Given the description of an element on the screen output the (x, y) to click on. 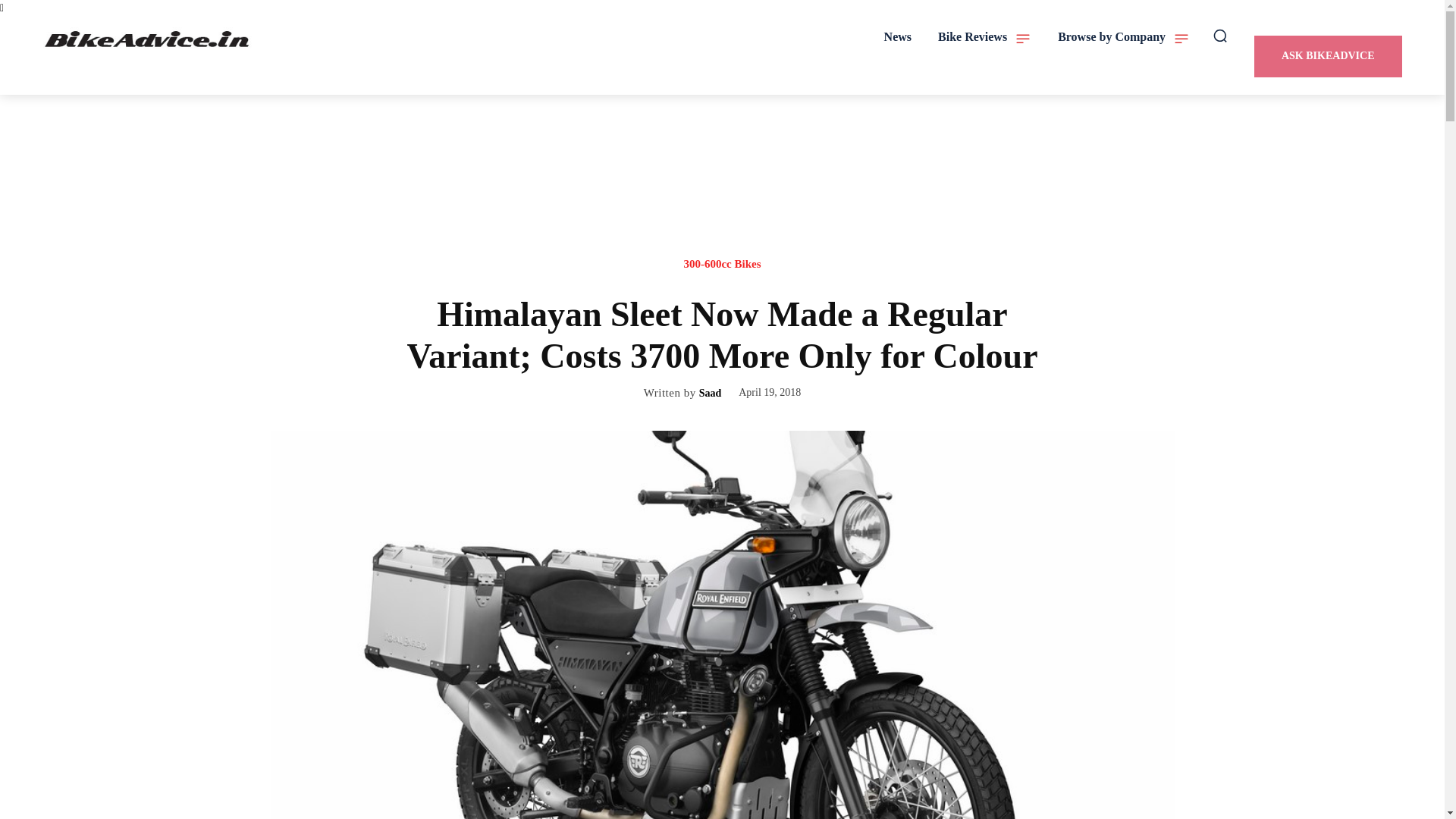
Browse by Company (1123, 36)
Bike Reviews (984, 36)
Advertisement (722, 189)
Latest Bike News, Reviews, Spy Pics (148, 38)
Ask BikeAdvice (1327, 56)
